Given the description of an element on the screen output the (x, y) to click on. 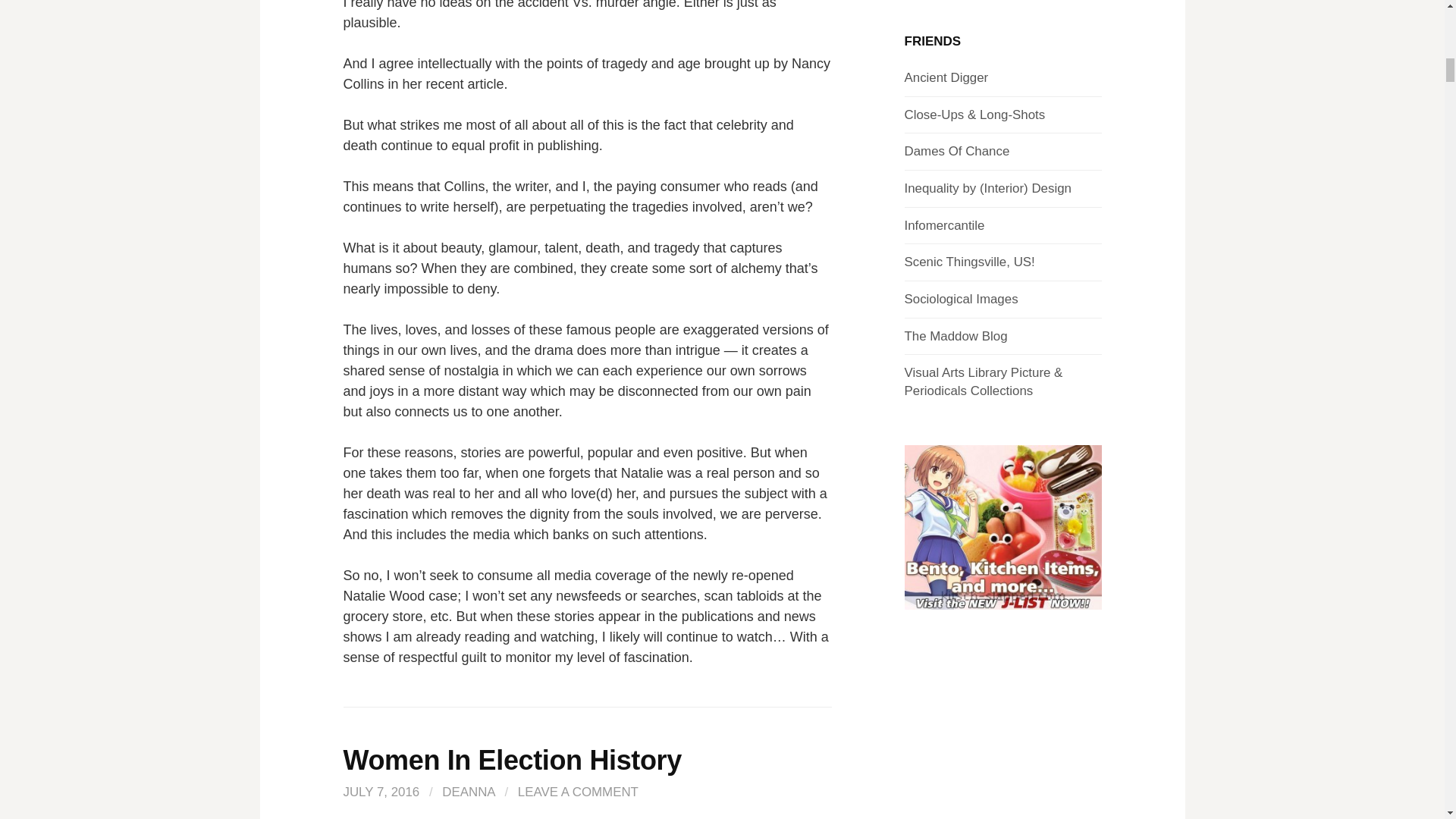
Women In Election History (511, 759)
LEAVE A COMMENT (578, 791)
JULY 7, 2016 (380, 791)
DEANNA (468, 791)
